Given the description of an element on the screen output the (x, y) to click on. 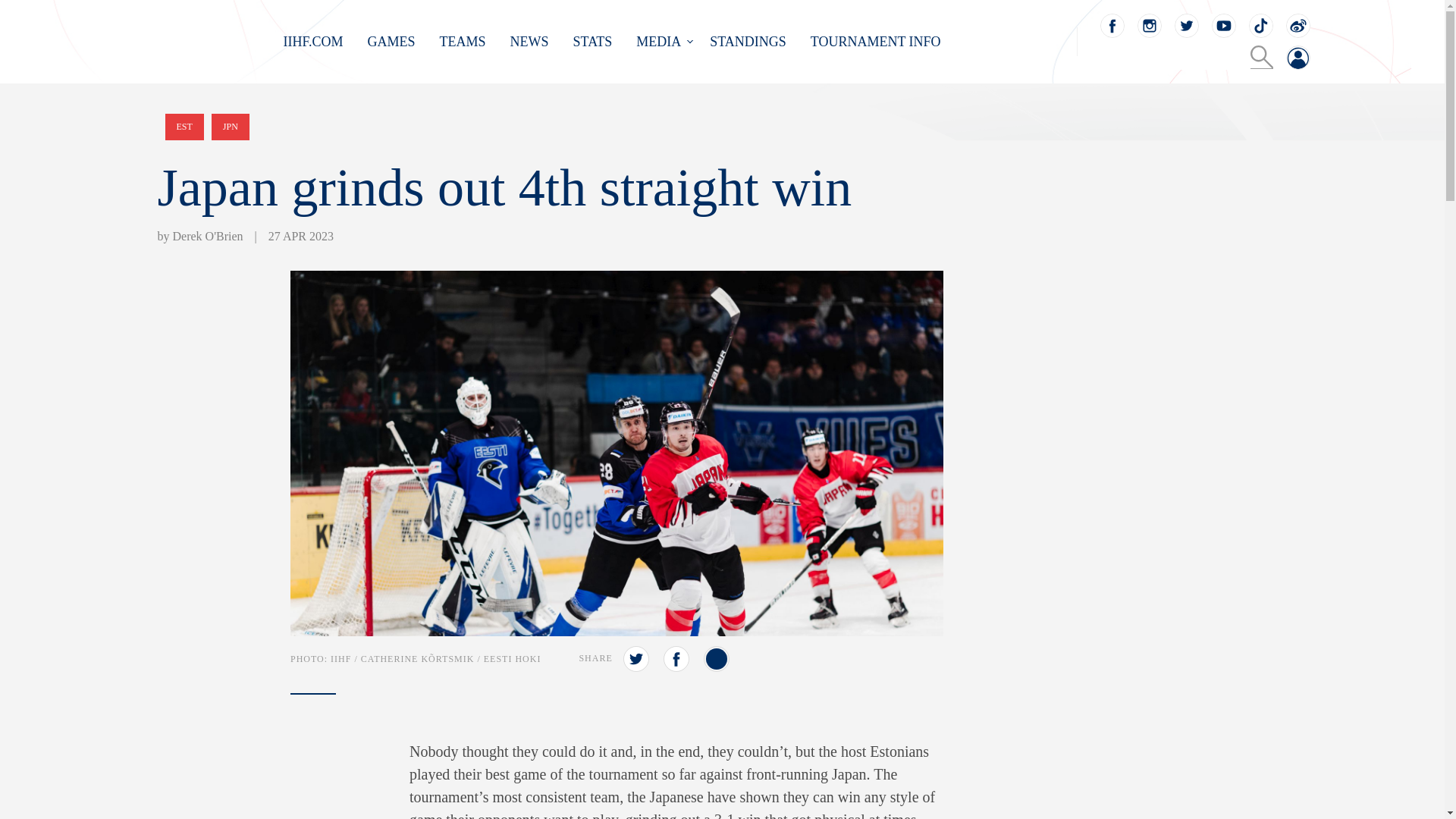
JPN (229, 126)
GAMES (391, 41)
NEWS (529, 41)
TOURNAMENT INFO (875, 41)
STATS (592, 41)
TEAMS (462, 41)
IIHF.COM (313, 41)
EST (184, 126)
STANDINGS (748, 41)
